Given the description of an element on the screen output the (x, y) to click on. 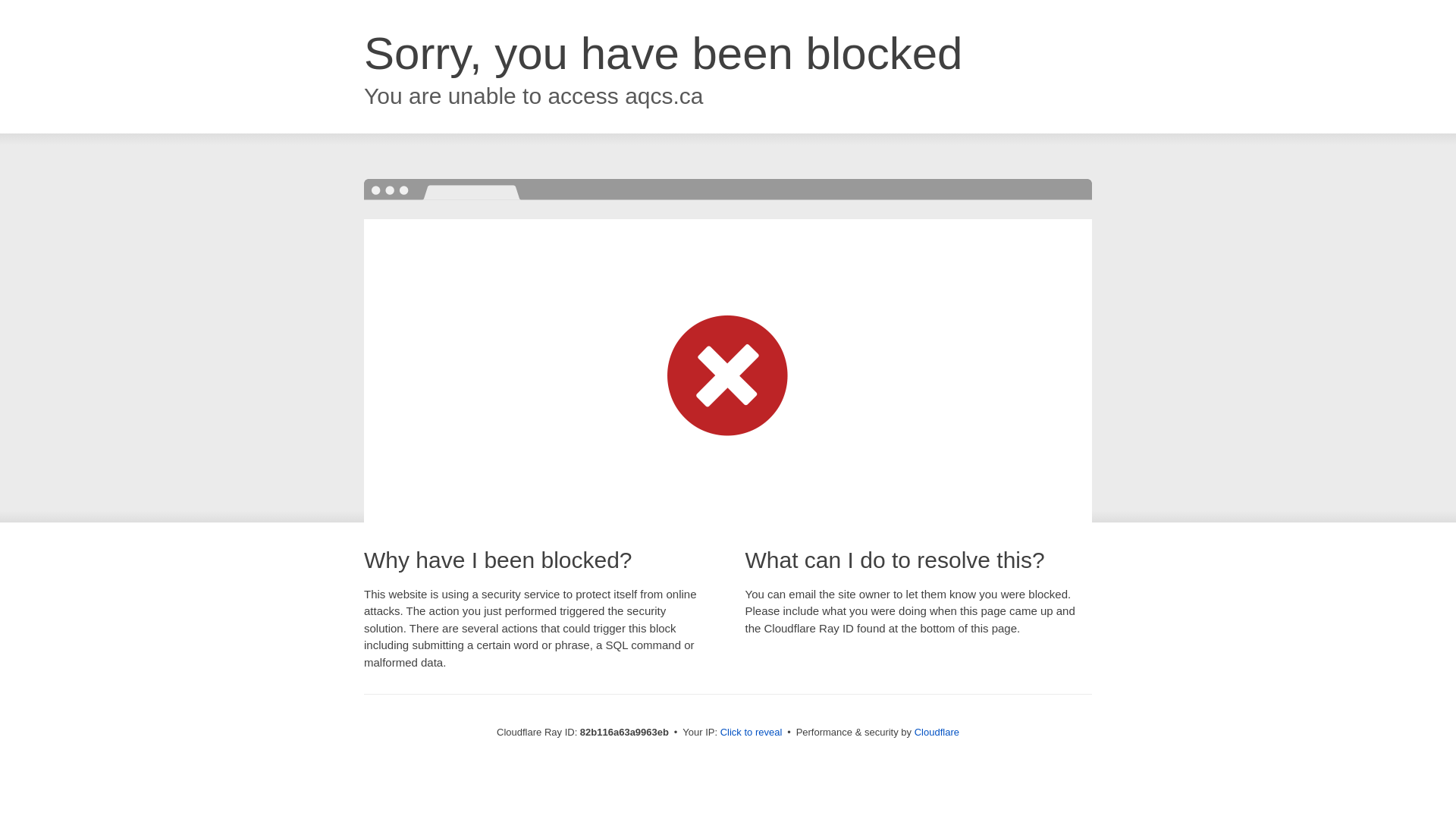
Click to reveal Element type: text (751, 732)
Cloudflare Element type: text (936, 731)
